Given the description of an element on the screen output the (x, y) to click on. 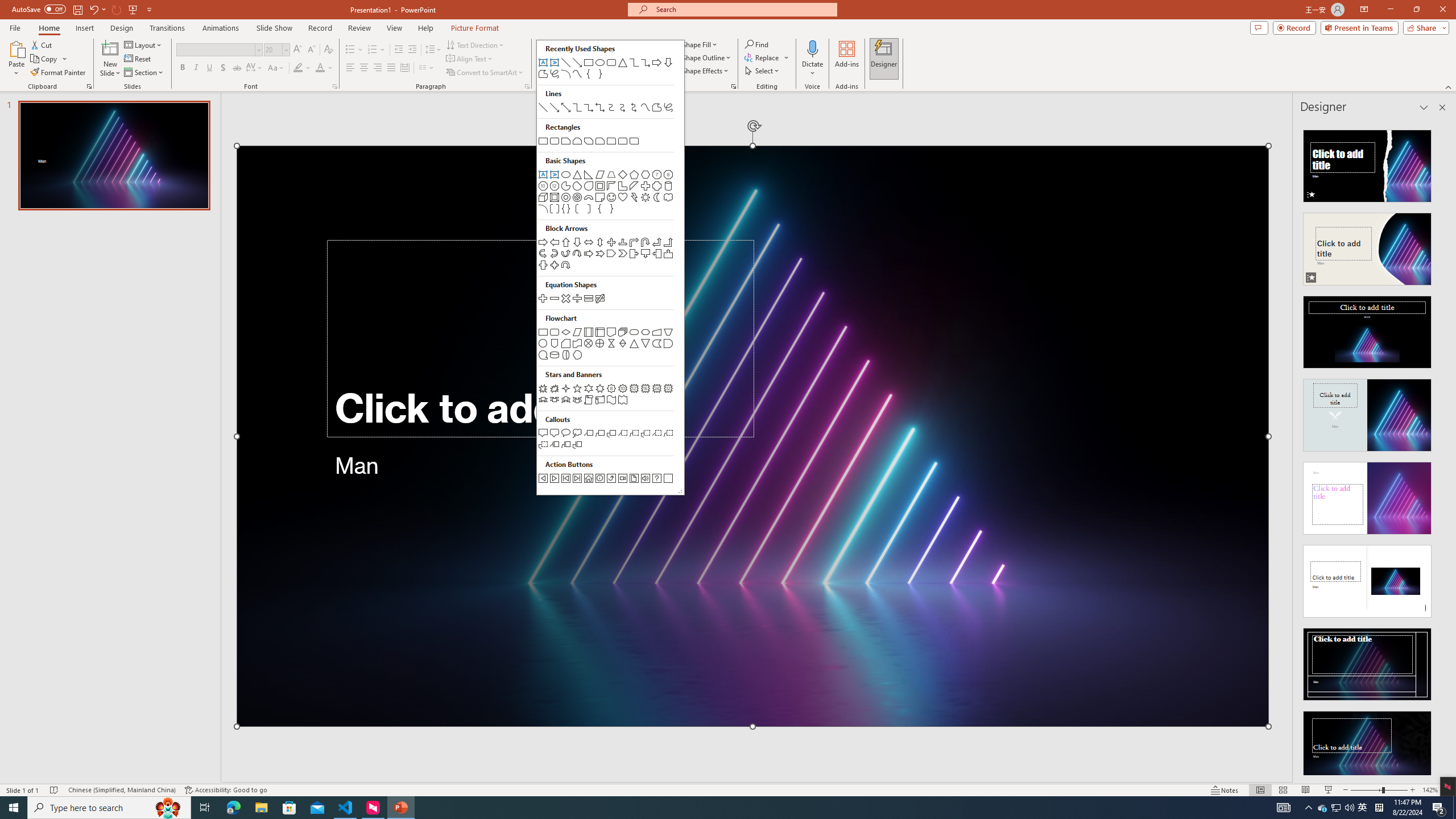
Text Highlight Color Yellow (297, 67)
Reset (138, 58)
Layout (143, 44)
Clear Formatting (327, 49)
Class: NetUIScrollBar (1441, 447)
Align Right (377, 67)
Numbering (376, 49)
Minimize (1390, 9)
Character Spacing (254, 67)
Increase Font Size (297, 49)
Reading View (1305, 790)
Align Text (470, 58)
Microsoft Edge (233, 807)
Bold (182, 67)
Text Highlight Color (302, 67)
